Given the description of an element on the screen output the (x, y) to click on. 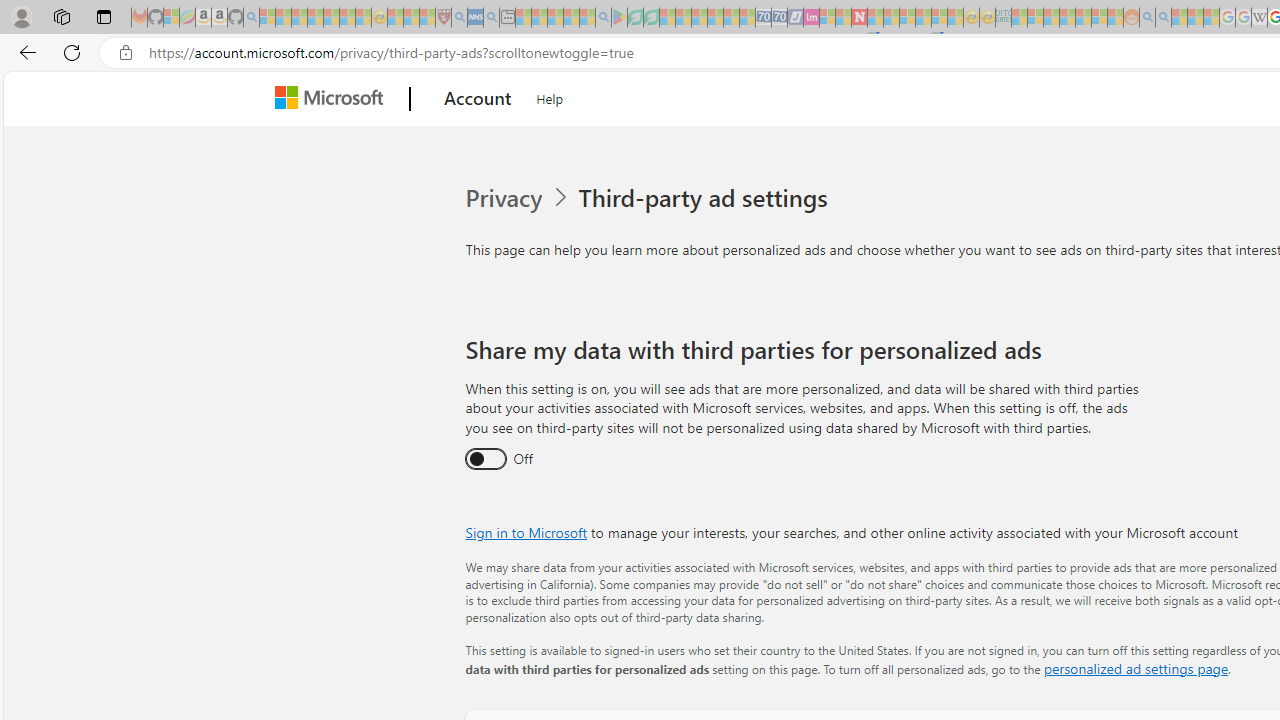
personalized ad settings page (1135, 668)
